Given the description of an element on the screen output the (x, y) to click on. 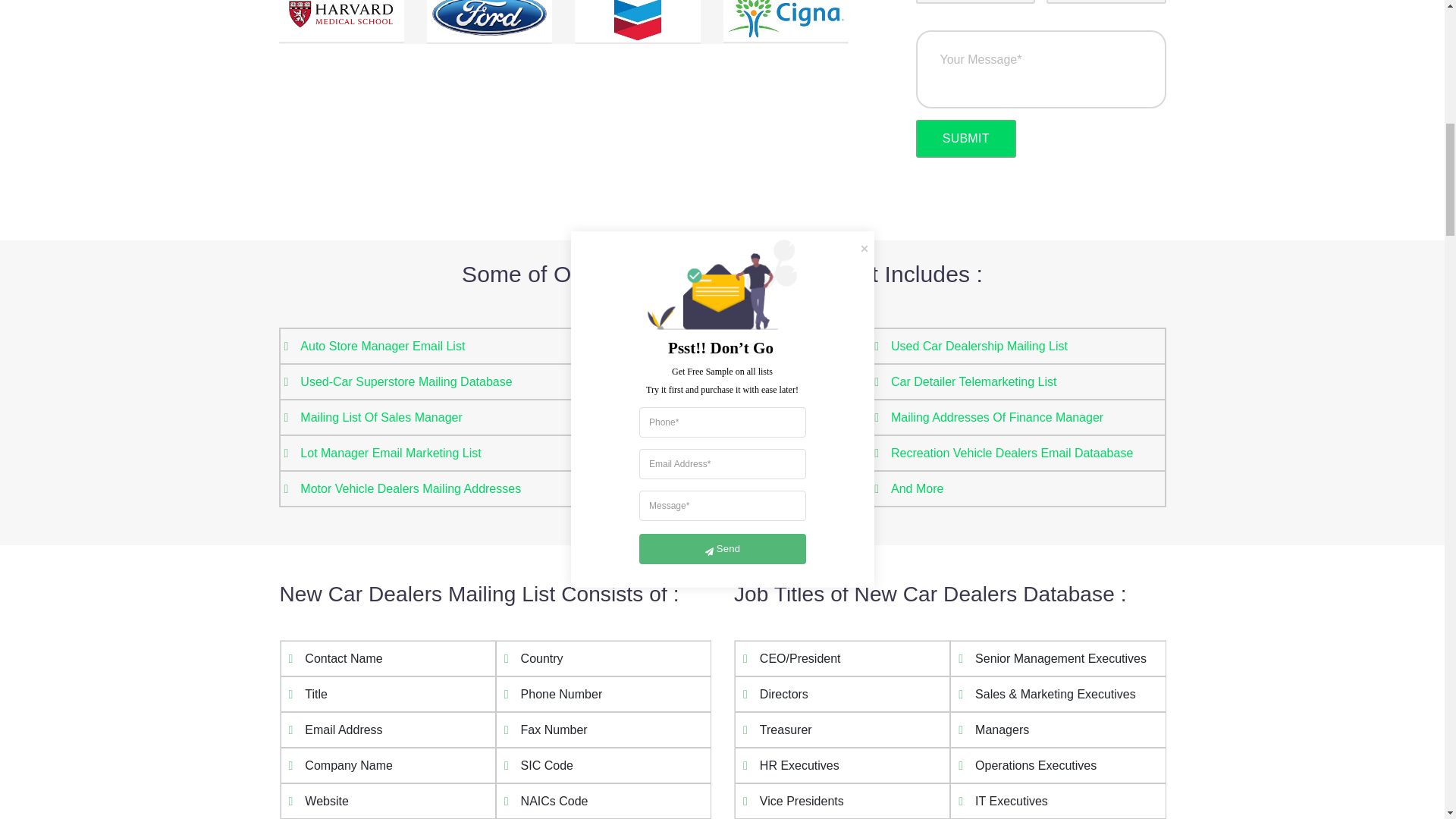
SUBMIT (965, 138)
